Given the description of an element on the screen output the (x, y) to click on. 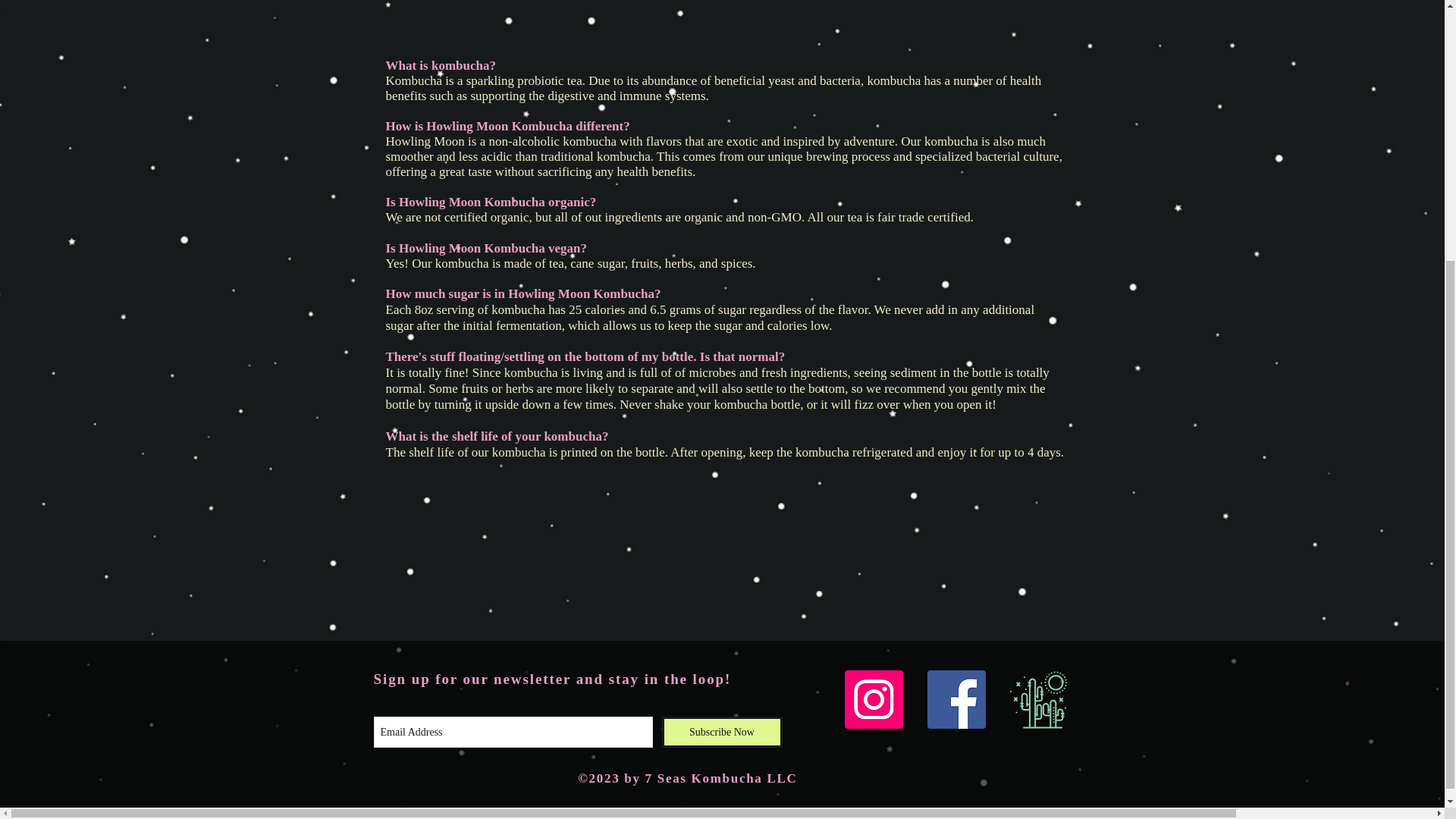
Subscribe Now (721, 731)
